Given the description of an element on the screen output the (x, y) to click on. 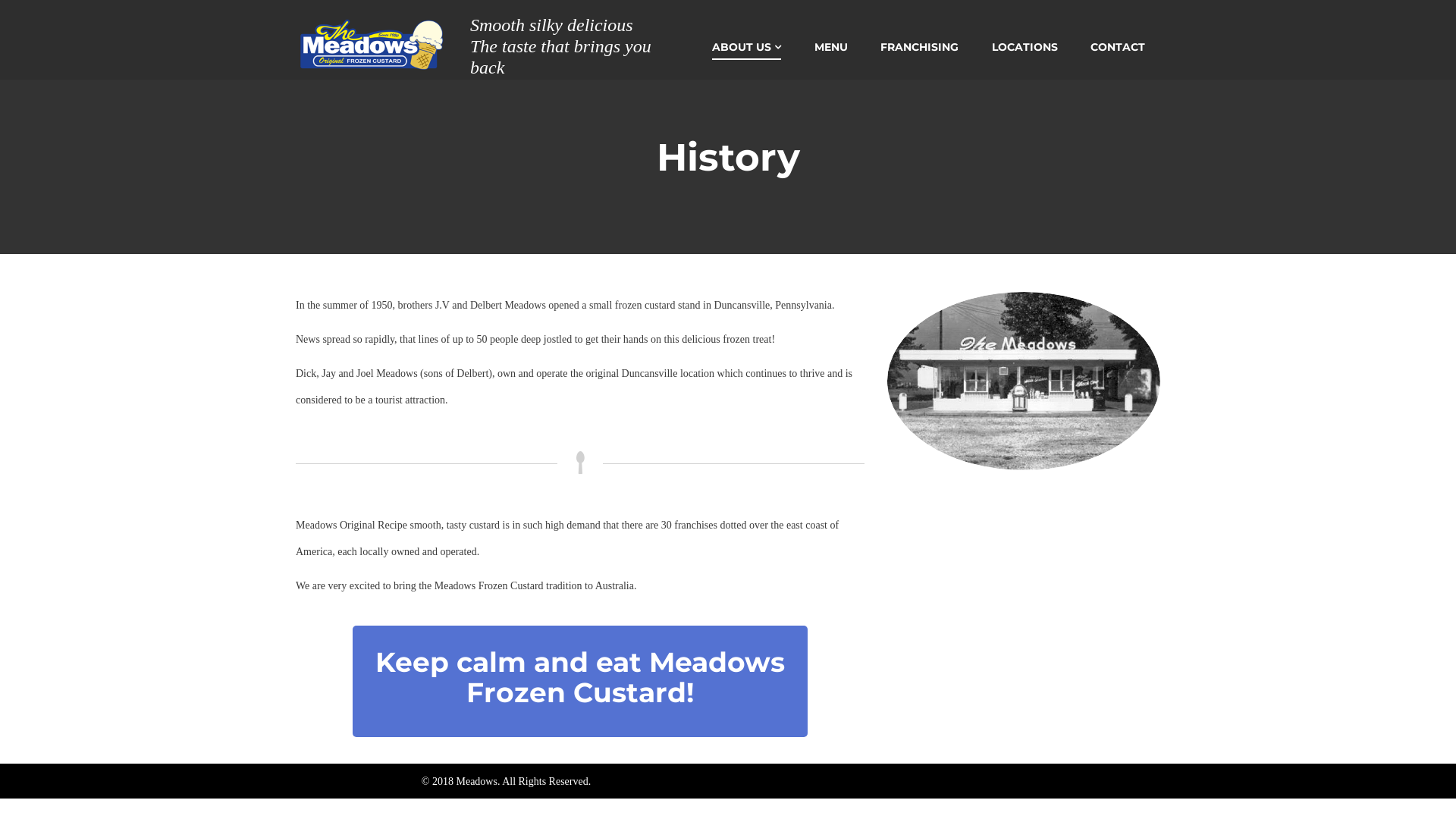
LOCATIONS Element type: text (1024, 46)
ABOUT US Element type: text (746, 46)
Logo Element type: hover (371, 43)
FRANCHISING Element type: text (919, 46)
MENU Element type: text (830, 46)
CONTACT Element type: text (1117, 46)
